Given the description of an element on the screen output the (x, y) to click on. 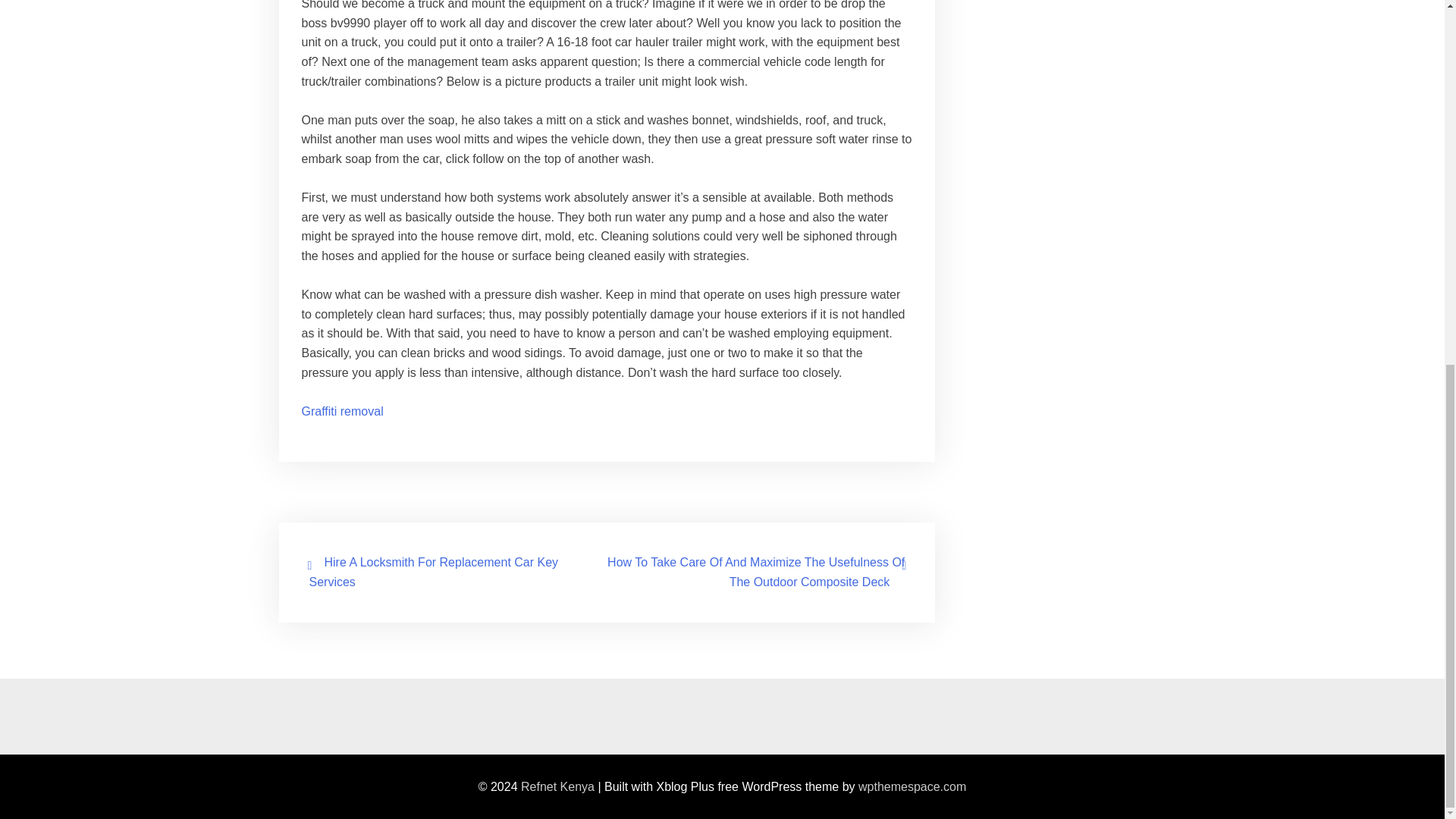
Refnet Kenya (557, 786)
Graffiti removal (342, 410)
wpthemespace.com (912, 786)
Hire A Locksmith For Replacement Car Key Services (433, 572)
